Given the description of an element on the screen output the (x, y) to click on. 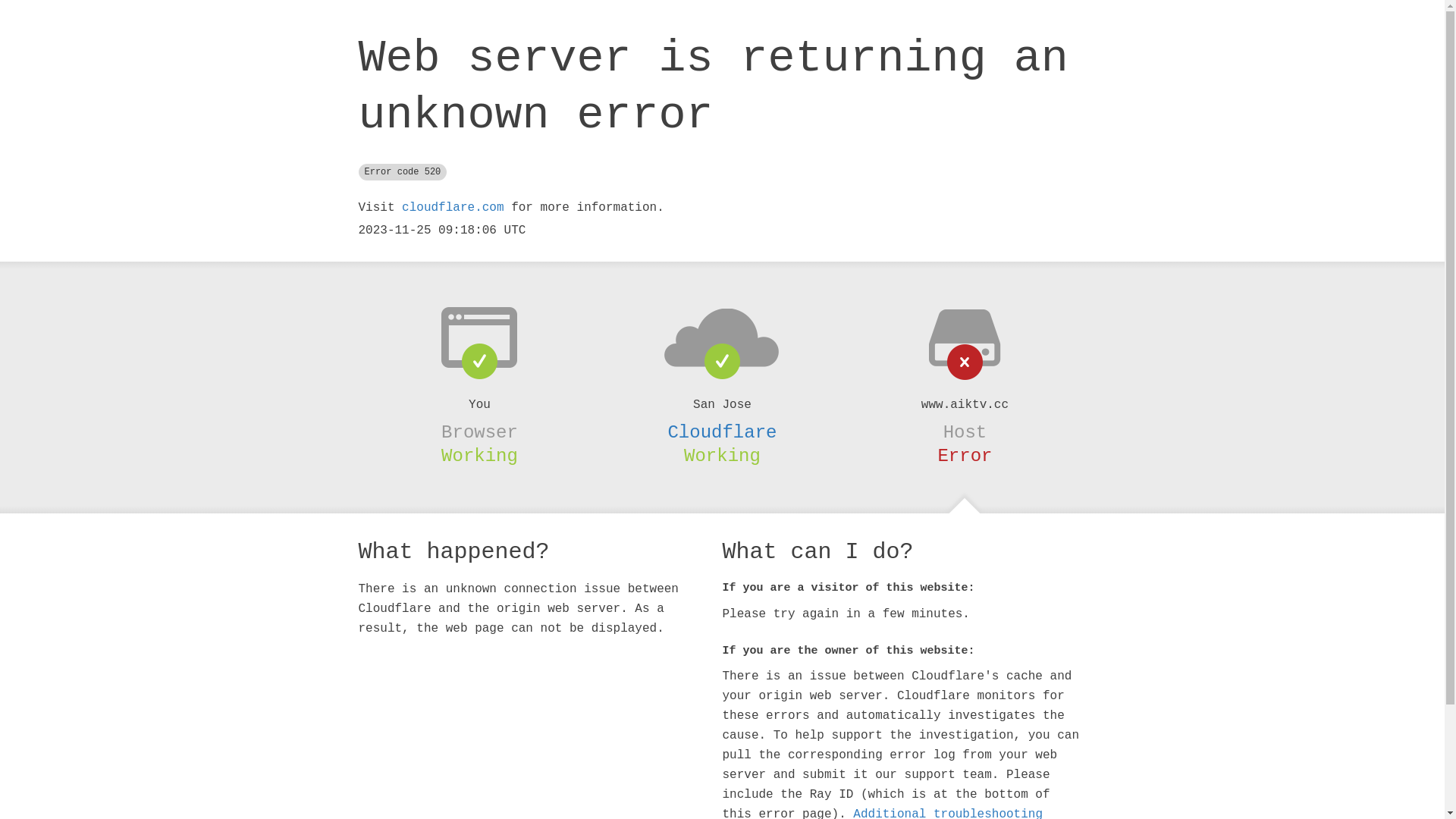
cloudflare.com Element type: text (452, 207)
Cloudflare Element type: text (721, 432)
